Given the description of an element on the screen output the (x, y) to click on. 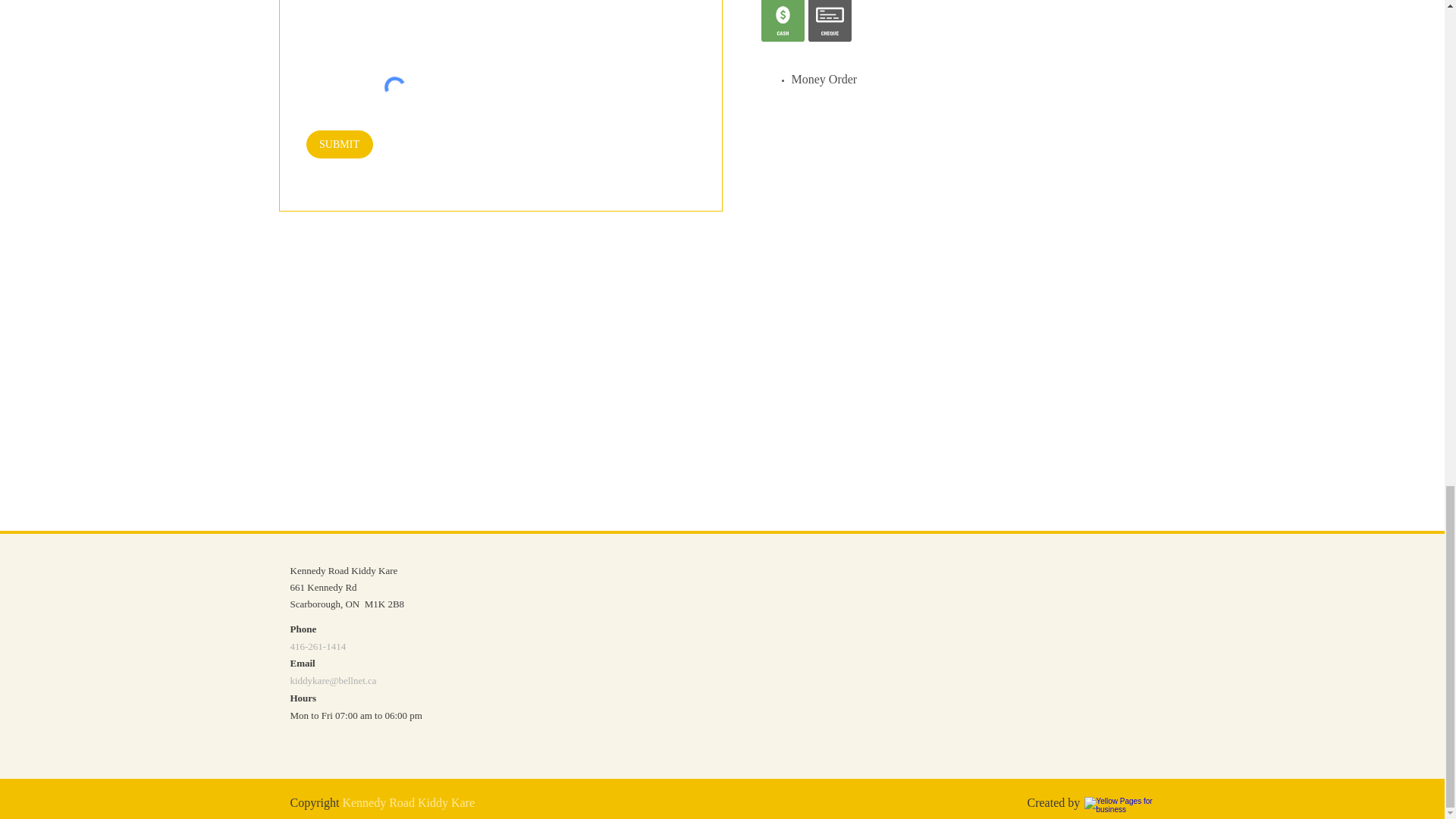
416-261-1414 (317, 645)
SUBMIT (338, 144)
Kennedy Road Kiddy Kare (408, 802)
